Given the description of an element on the screen output the (x, y) to click on. 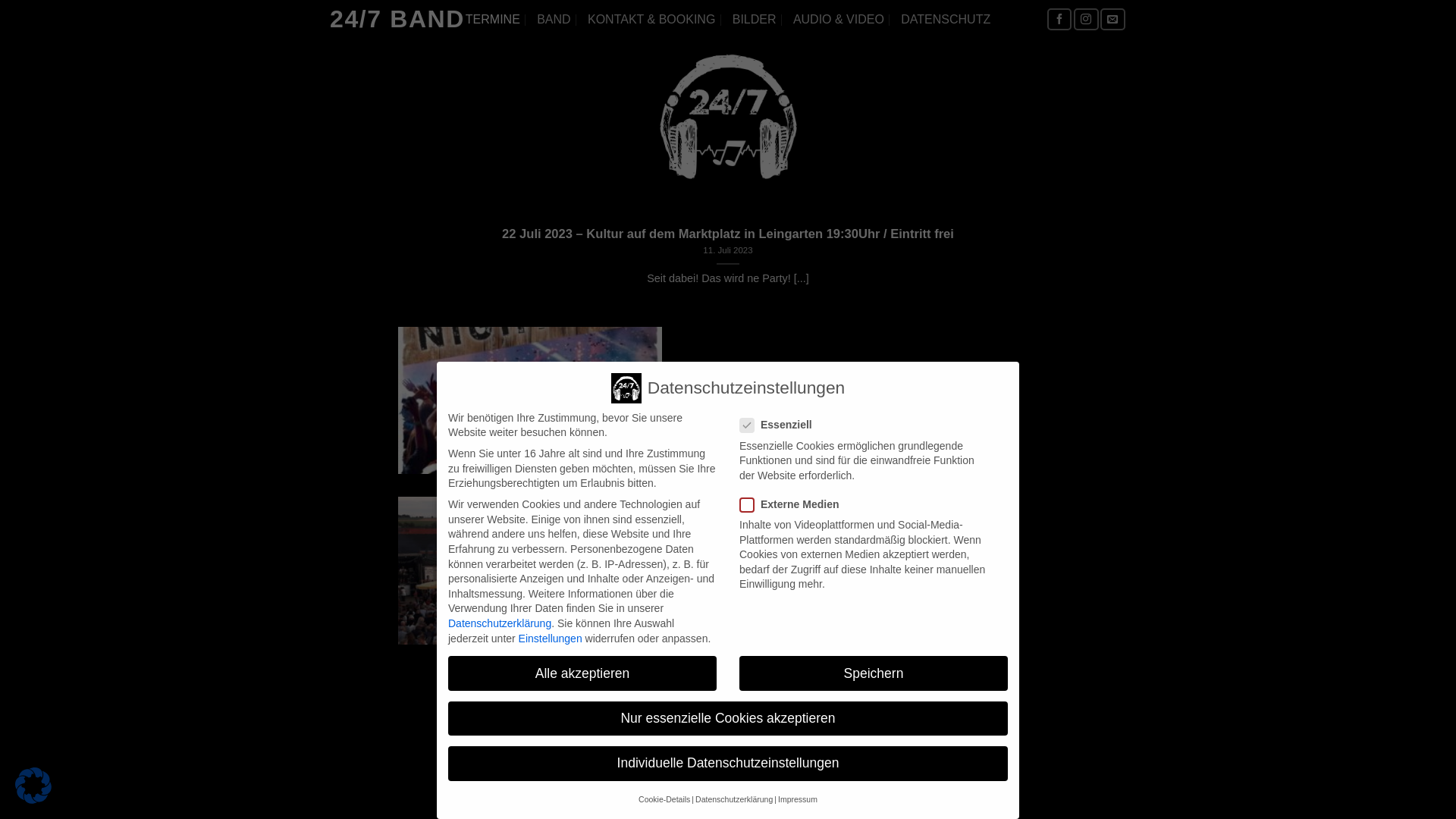
06.07.2019 Blasenbergfest Meimsheim
[...] Element type: text (727, 570)
Alle akzeptieren Element type: text (582, 672)
AUDIO & VIDEO Element type: text (838, 19)
Nur essenzielle Cookies akzeptieren Element type: text (727, 718)
DATENSCHUTZ Element type: text (945, 19)
Cookie-Details Element type: text (664, 799)
KONTAKT & BOOKING Element type: text (651, 19)
Einstellungen Element type: text (550, 638)
TERMINE Element type: text (492, 19)
24/7 Band - 24 Stunden, 7 Tage die Woche nur Musik Element type: hover (727, 116)
Individuelle Datenschutzeinstellungen Element type: text (727, 763)
BILDER Element type: text (754, 19)
Impressum Element type: text (797, 799)
Speichern Element type: text (873, 672)
BAND Element type: text (553, 19)
